Given the description of an element on the screen output the (x, y) to click on. 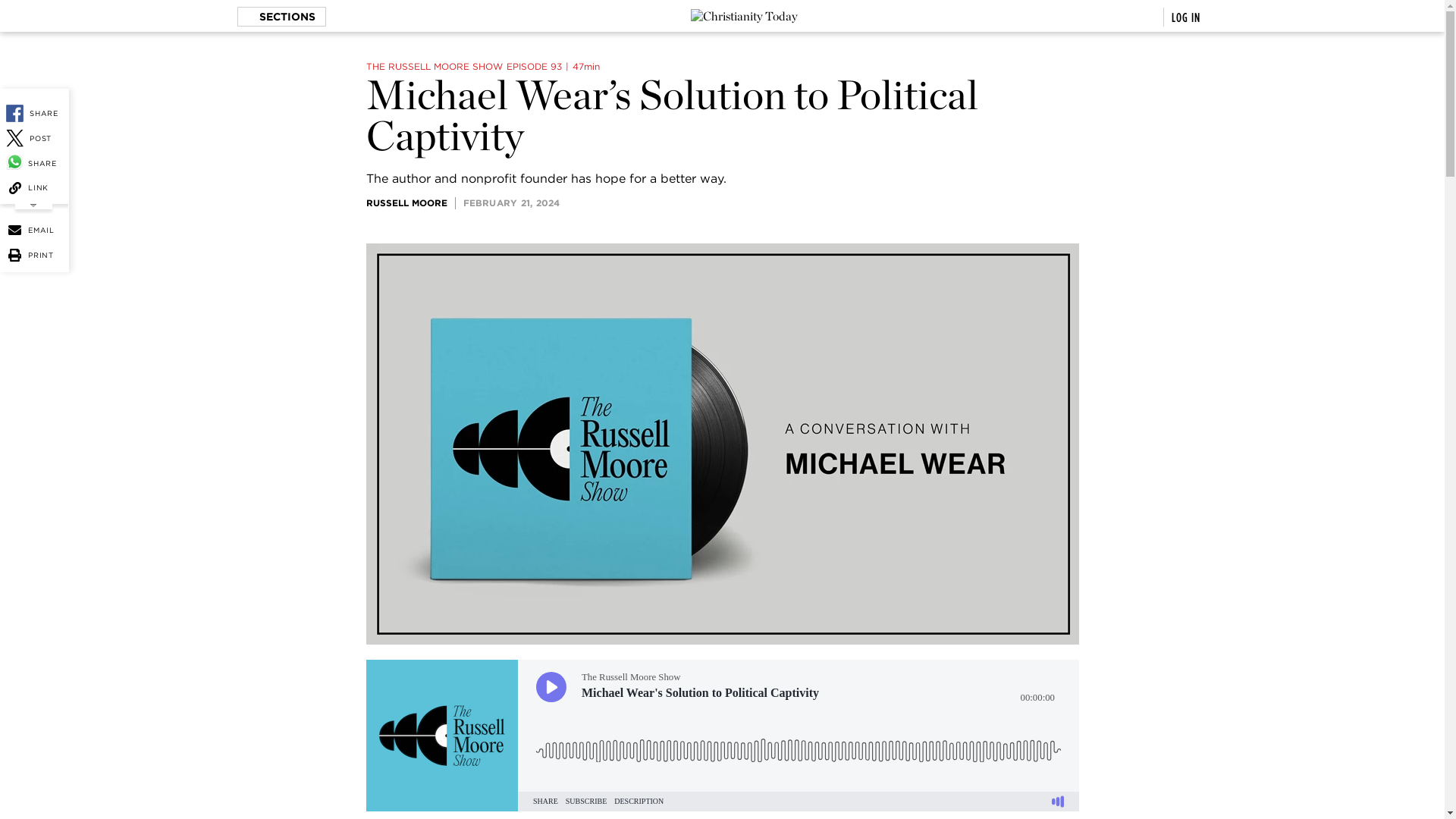
Christianity Today (743, 17)
